Given the description of an element on the screen output the (x, y) to click on. 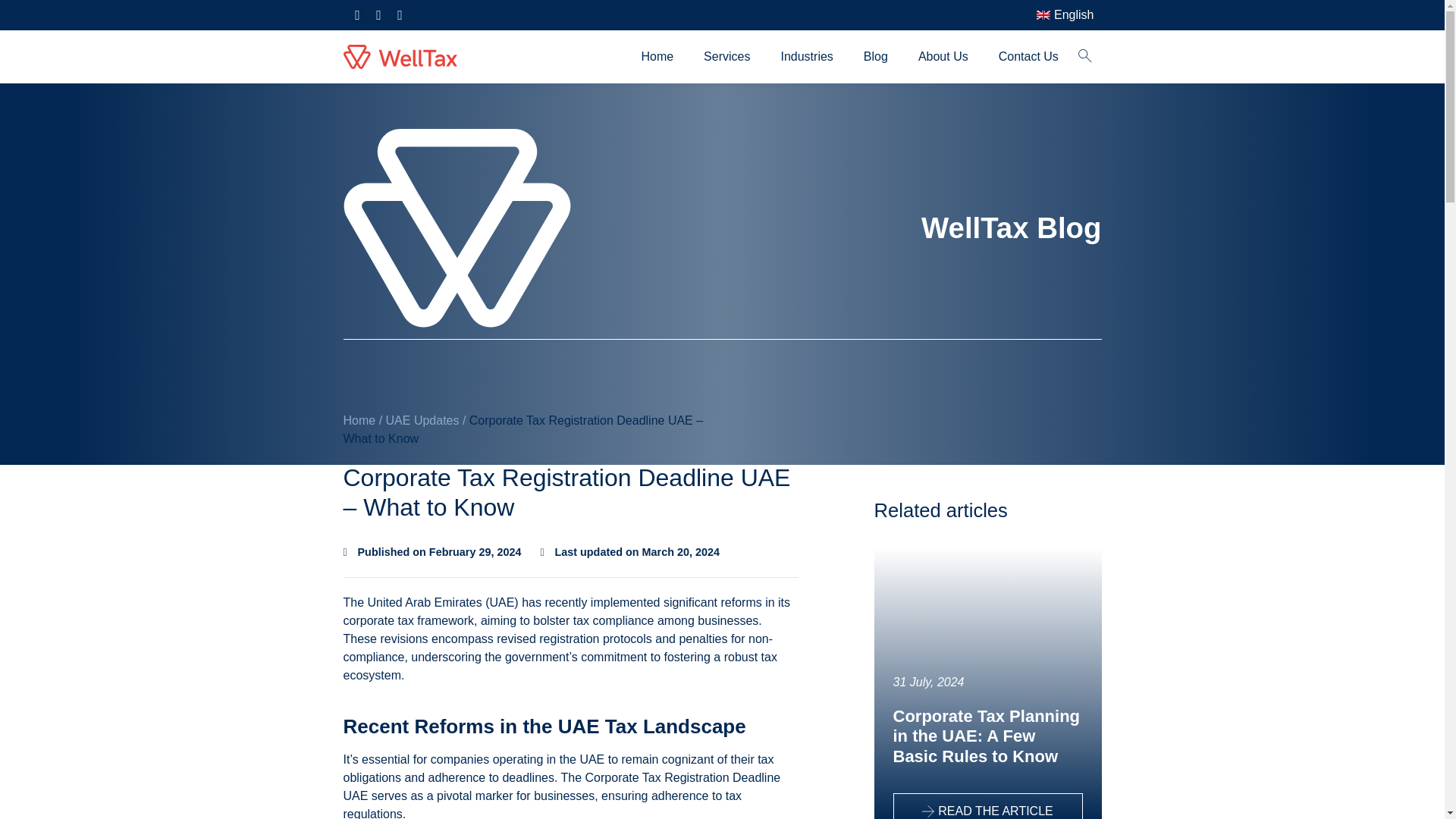
Blog (875, 56)
Industries (806, 56)
Services (726, 56)
About Us (943, 56)
English (1042, 14)
Contact Us (1029, 56)
Home (657, 56)
English (1062, 14)
